Given the description of an element on the screen output the (x, y) to click on. 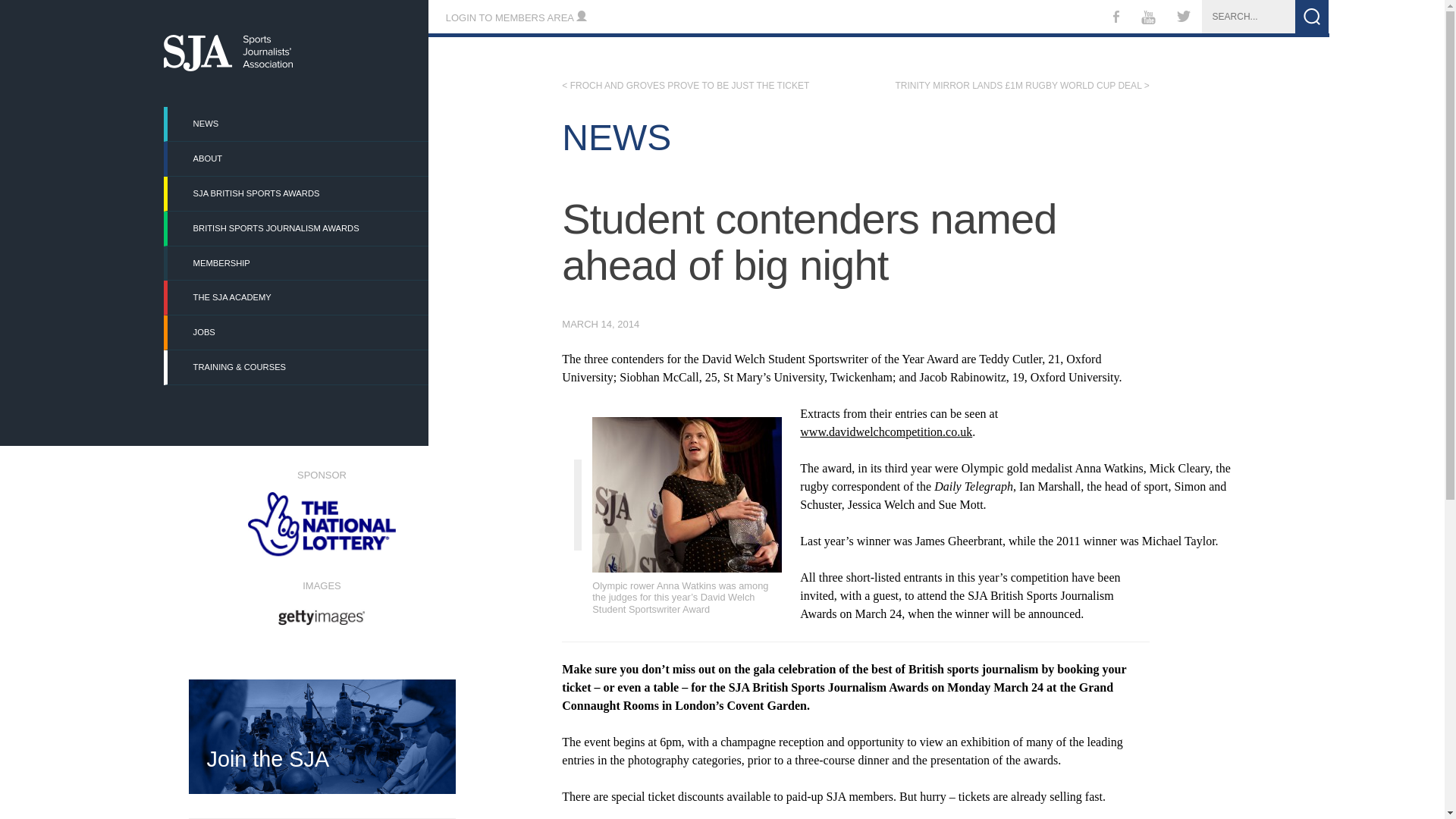
MARCH 14, 2014 (600, 324)
Login to Members Area (514, 18)
LOGIN TO MEMBERS AREA (514, 18)
SJA BRITISH SPORTS AWARDS (297, 193)
SPONSOR (320, 513)
AIPS page (588, 609)
Twitter (1184, 18)
JOBS (297, 332)
IMAGES (320, 600)
BRITISH SPORTS JOURNALISM AWARDS (297, 228)
